Given the description of an element on the screen output the (x, y) to click on. 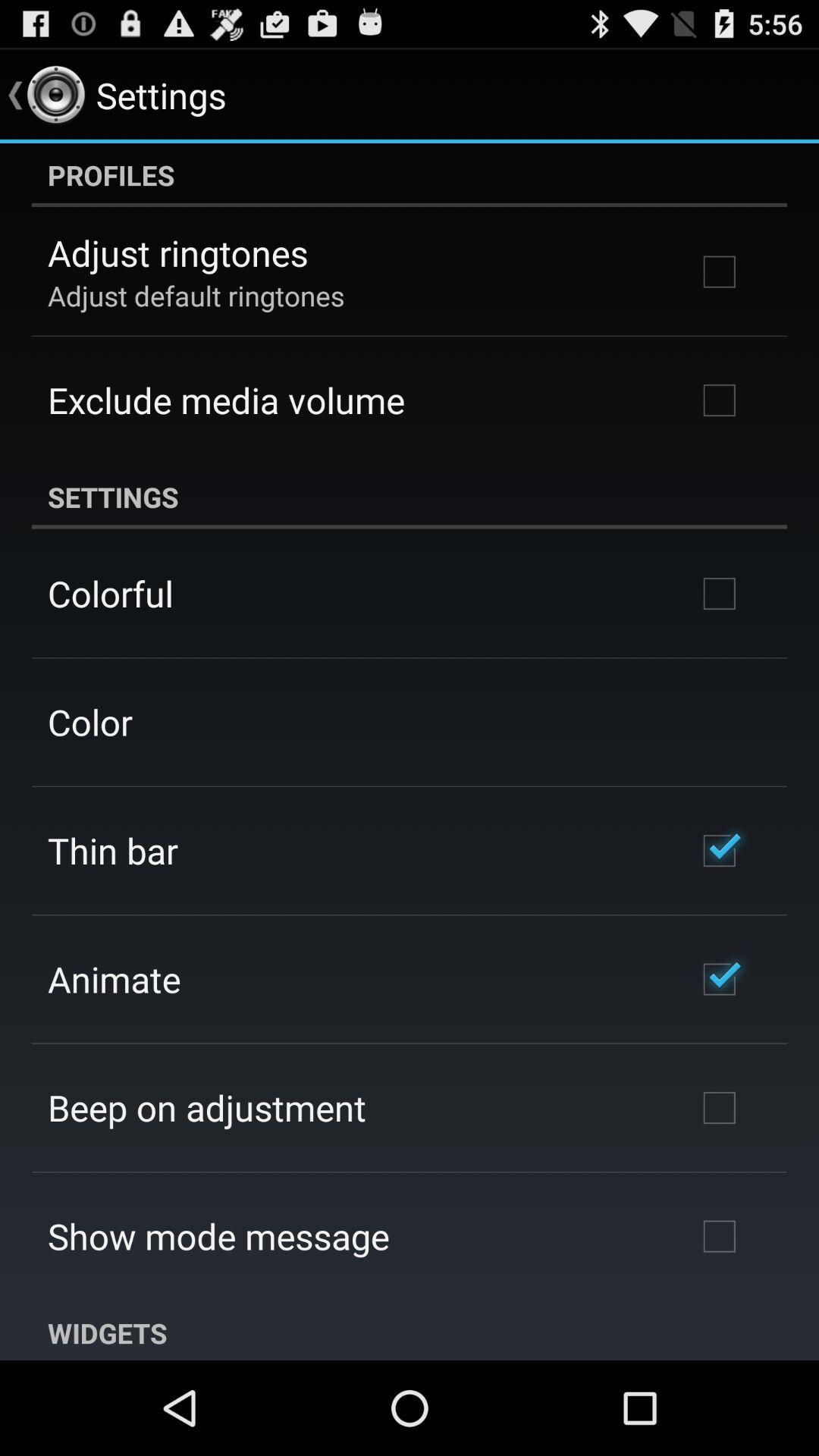
select app above adjust ringtones app (409, 175)
